Given the description of an element on the screen output the (x, y) to click on. 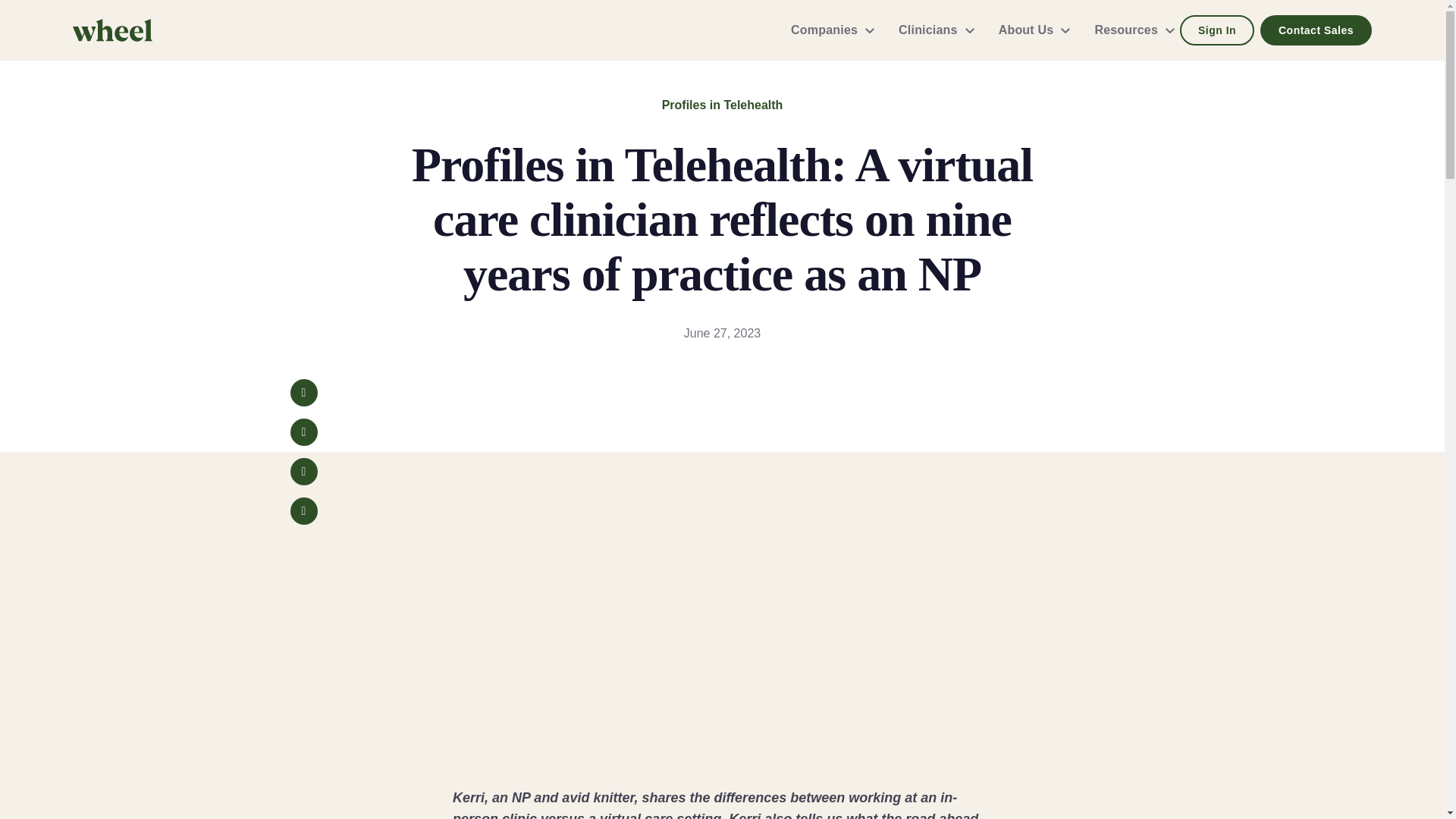
About Us (1028, 30)
Email (303, 510)
Contact Sales (1315, 30)
Twitter (303, 431)
Resources (1127, 30)
Clinicians (930, 30)
Companies (826, 30)
Sign In (1216, 30)
LinkedIn (303, 471)
Profiles in Telehealth (722, 104)
